Given the description of an element on the screen output the (x, y) to click on. 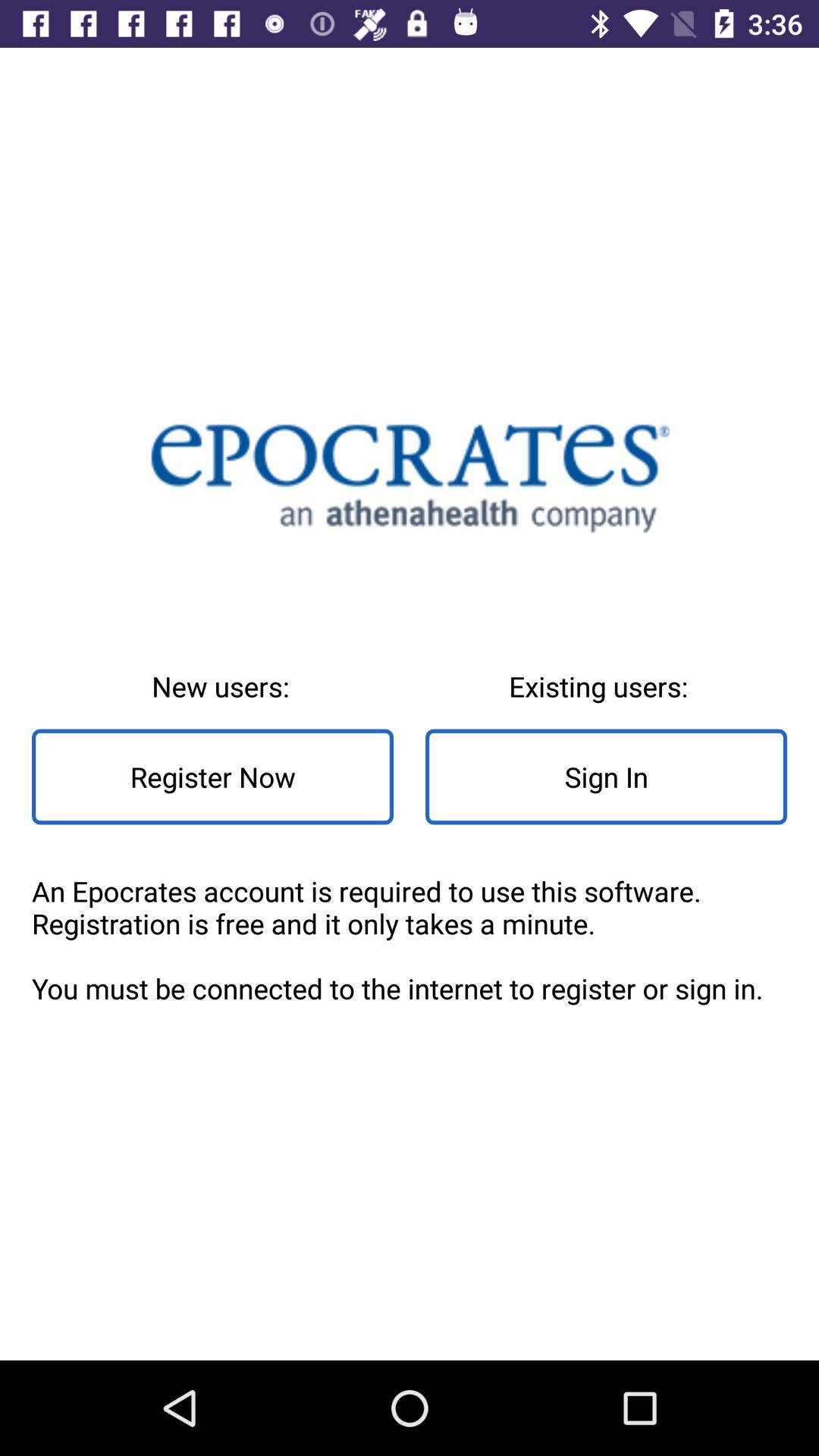
open the icon above the an epocrates account icon (212, 776)
